Given the description of an element on the screen output the (x, y) to click on. 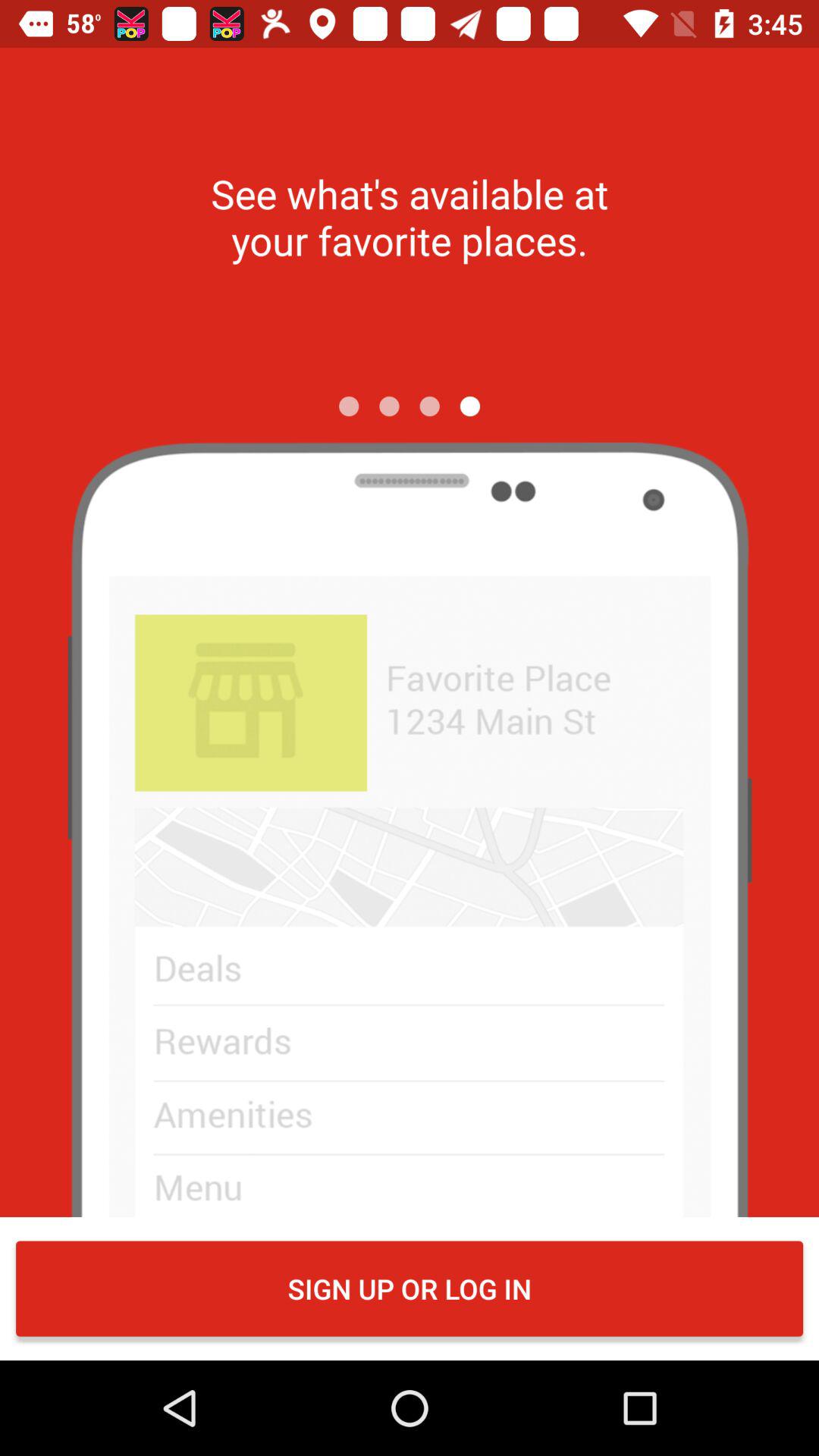
choose sign up or (409, 1288)
